Given the description of an element on the screen output the (x, y) to click on. 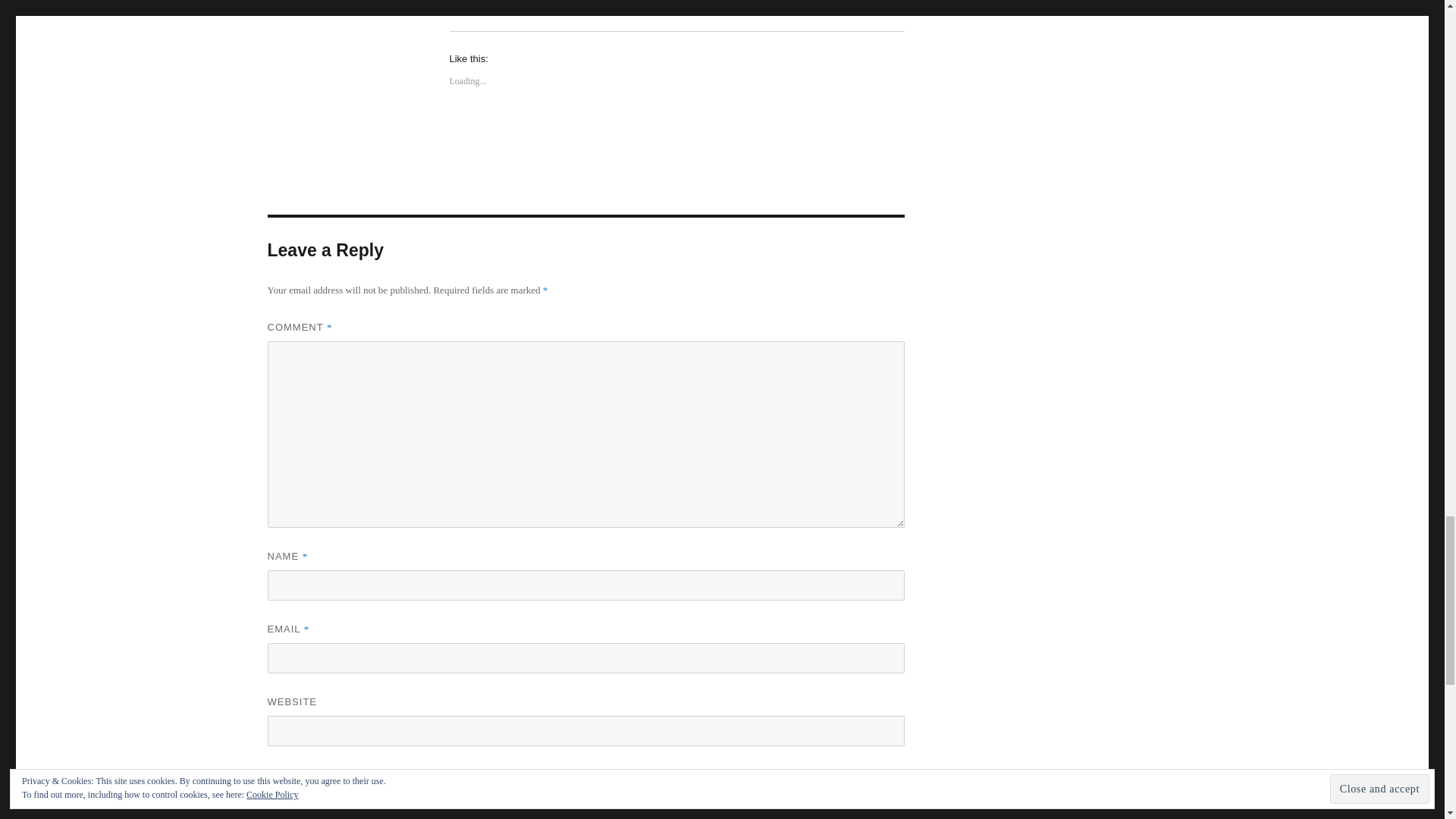
yes (271, 777)
1 (271, 814)
